Given the description of an element on the screen output the (x, y) to click on. 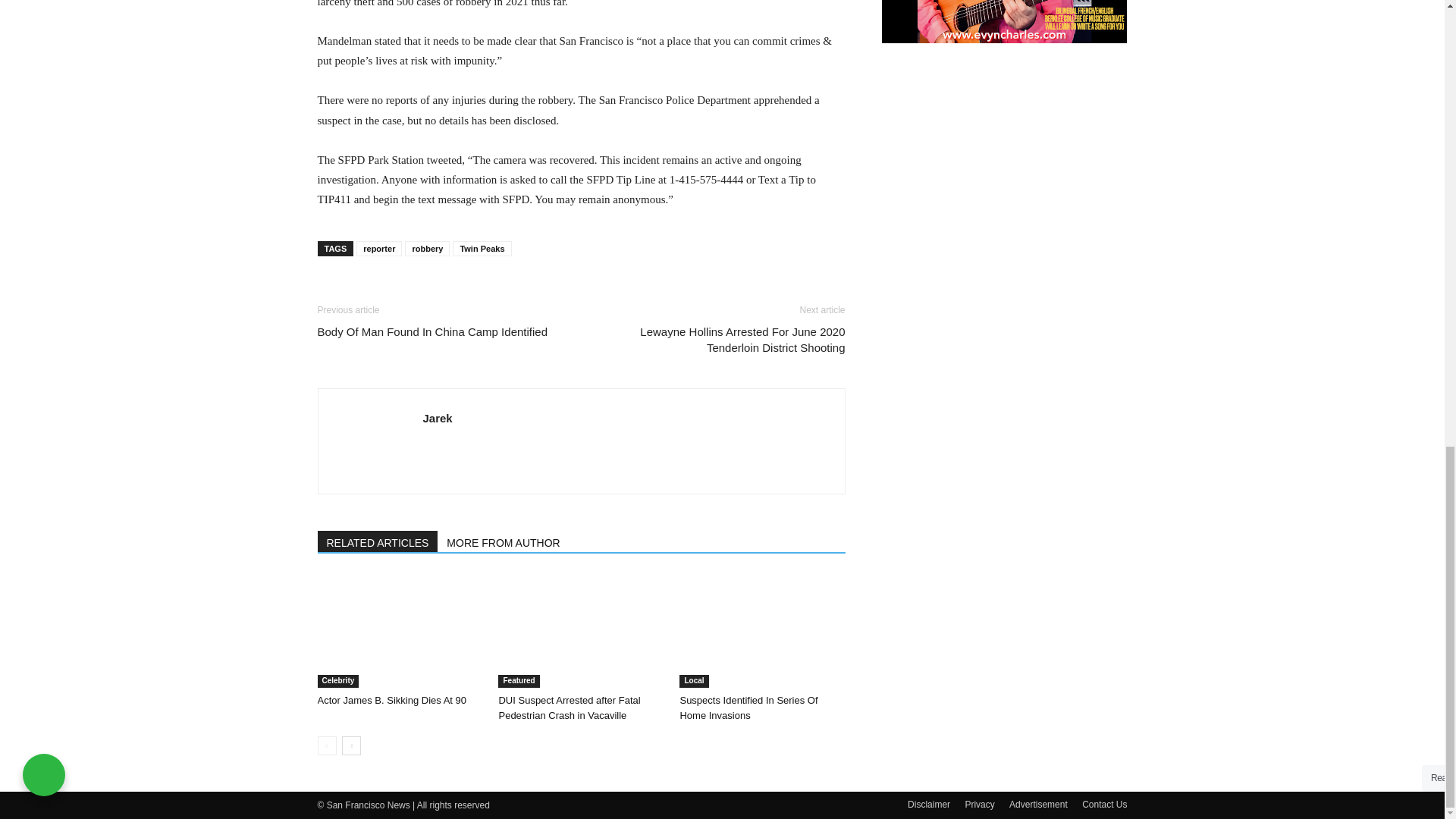
Suspects Identified In Series Of Home Invasions (761, 630)
Actor James B. Sikking Dies At 90 (399, 630)
bottomFacebookLike (430, 289)
Suspects Identified In Series Of Home Invasions (747, 707)
DMCA.com Protection Status (926, 642)
Actor James B. Sikking Dies At 90 (391, 699)
